Given the description of an element on the screen output the (x, y) to click on. 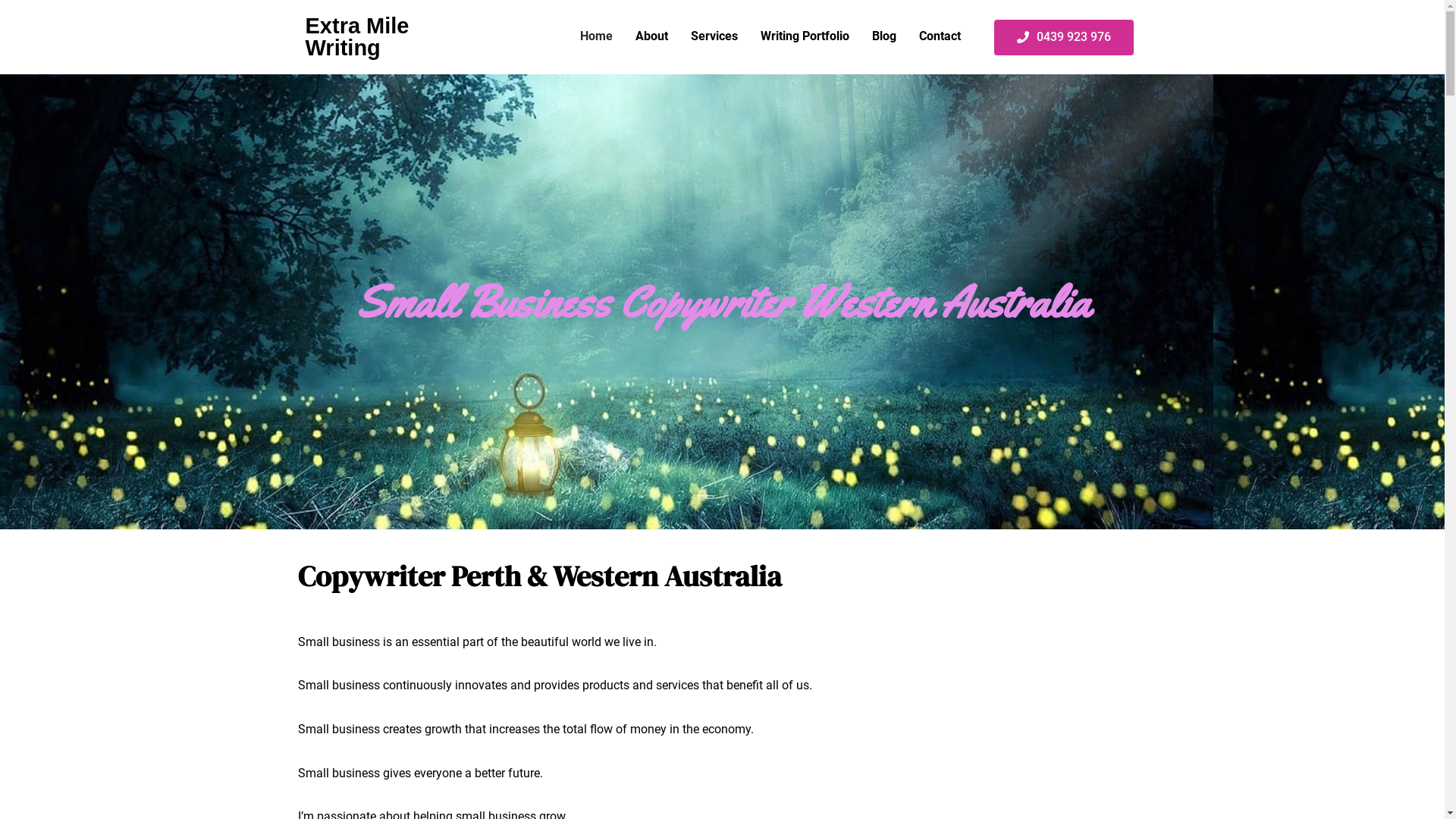
Extra Mile Writing Element type: text (356, 36)
0439 923 976 Element type: text (1063, 37)
Home Element type: text (596, 35)
Services Element type: text (714, 35)
Blog Element type: text (883, 35)
Contact Element type: text (939, 35)
About Element type: text (651, 35)
Writing Portfolio Element type: text (804, 35)
